Given the description of an element on the screen output the (x, y) to click on. 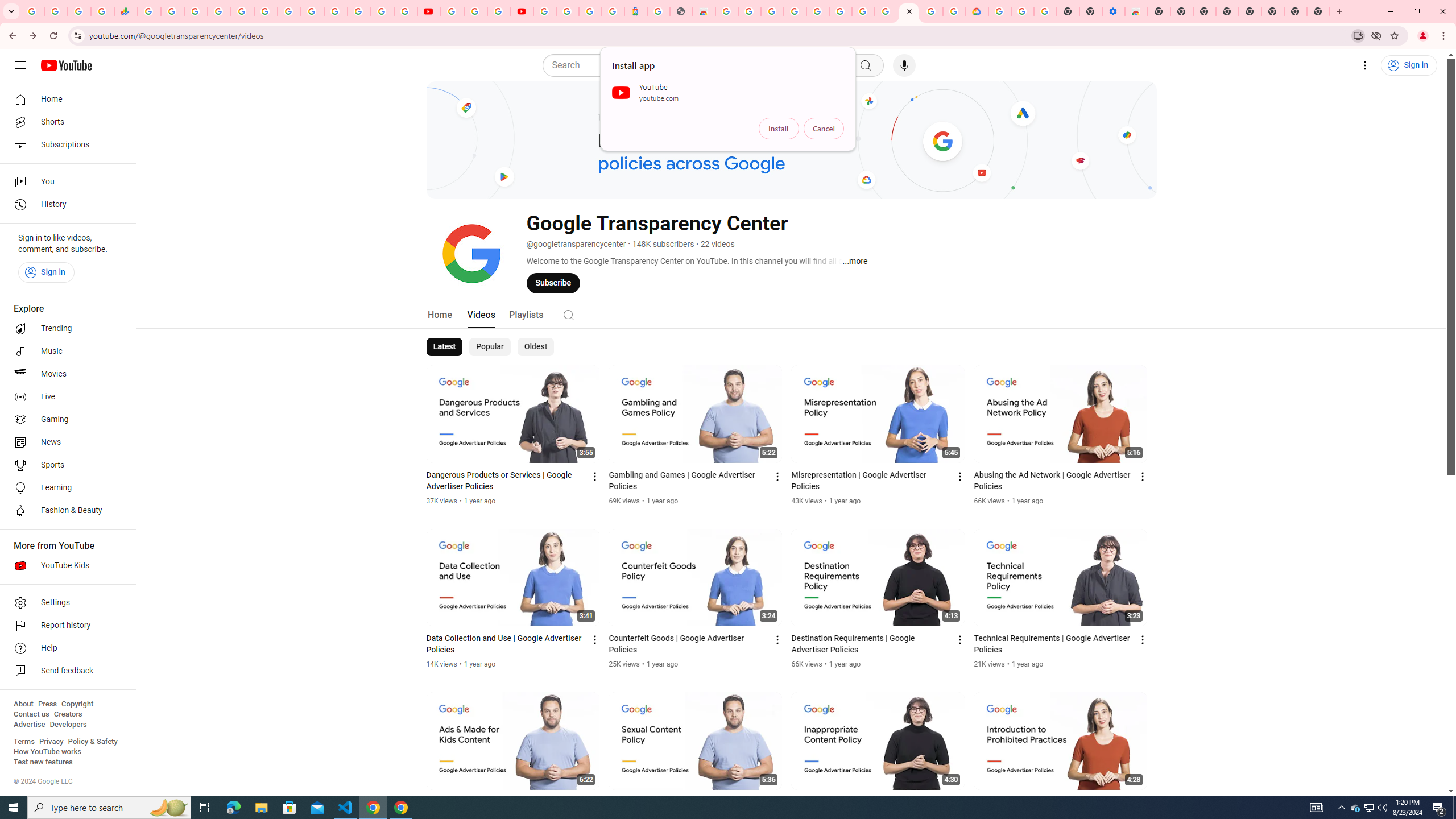
Developers (68, 724)
Settings - Accessibility (1113, 11)
Privacy Checkup (405, 11)
Ad Settings (794, 11)
News (64, 441)
Sign in - Google Accounts (545, 11)
Videos (481, 314)
Install YouTube (1358, 35)
Browse the Google Chrome Community - Google Chrome Community (954, 11)
